Given the description of an element on the screen output the (x, y) to click on. 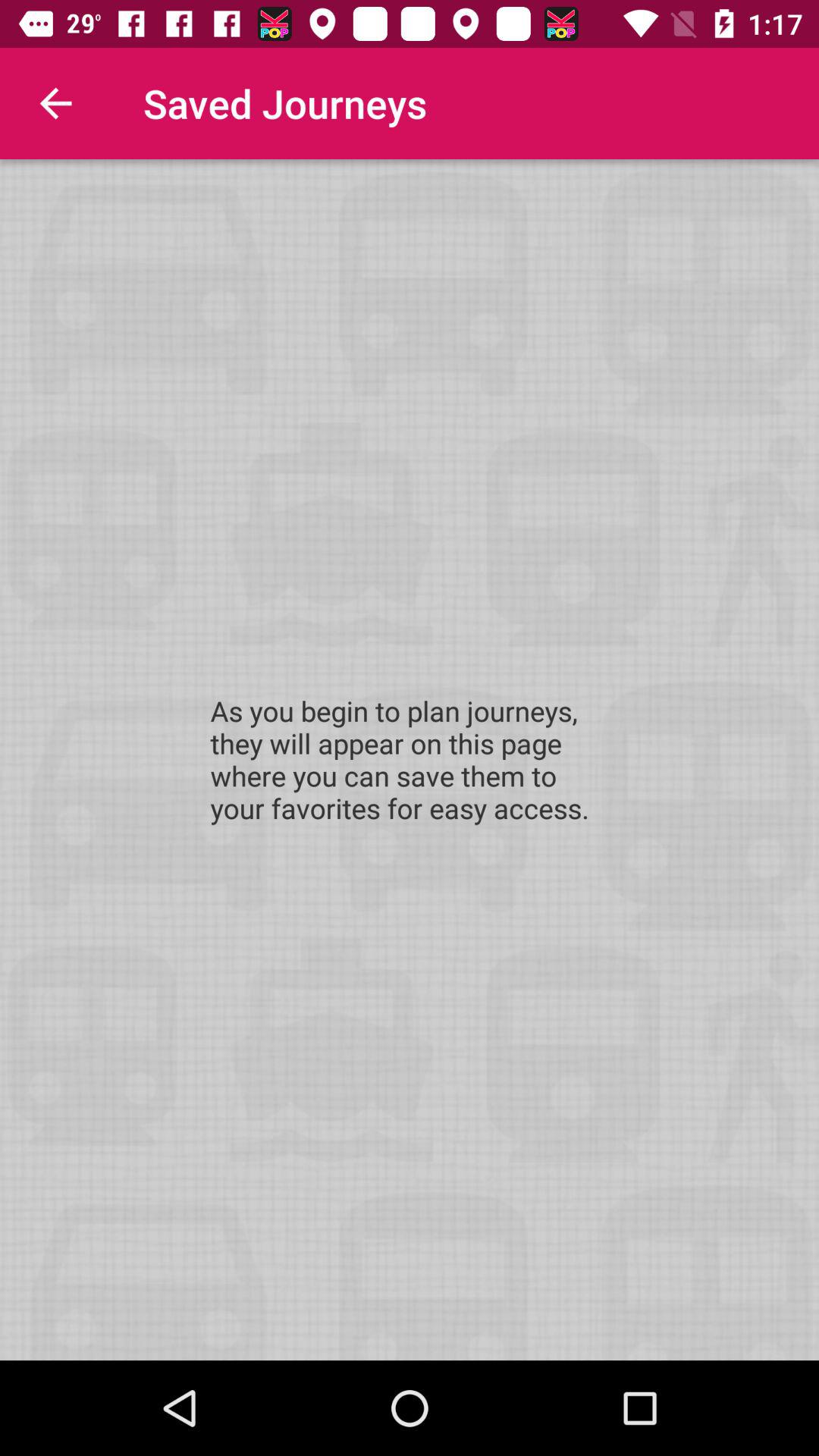
open icon next to the saved journeys item (55, 103)
